Given the description of an element on the screen output the (x, y) to click on. 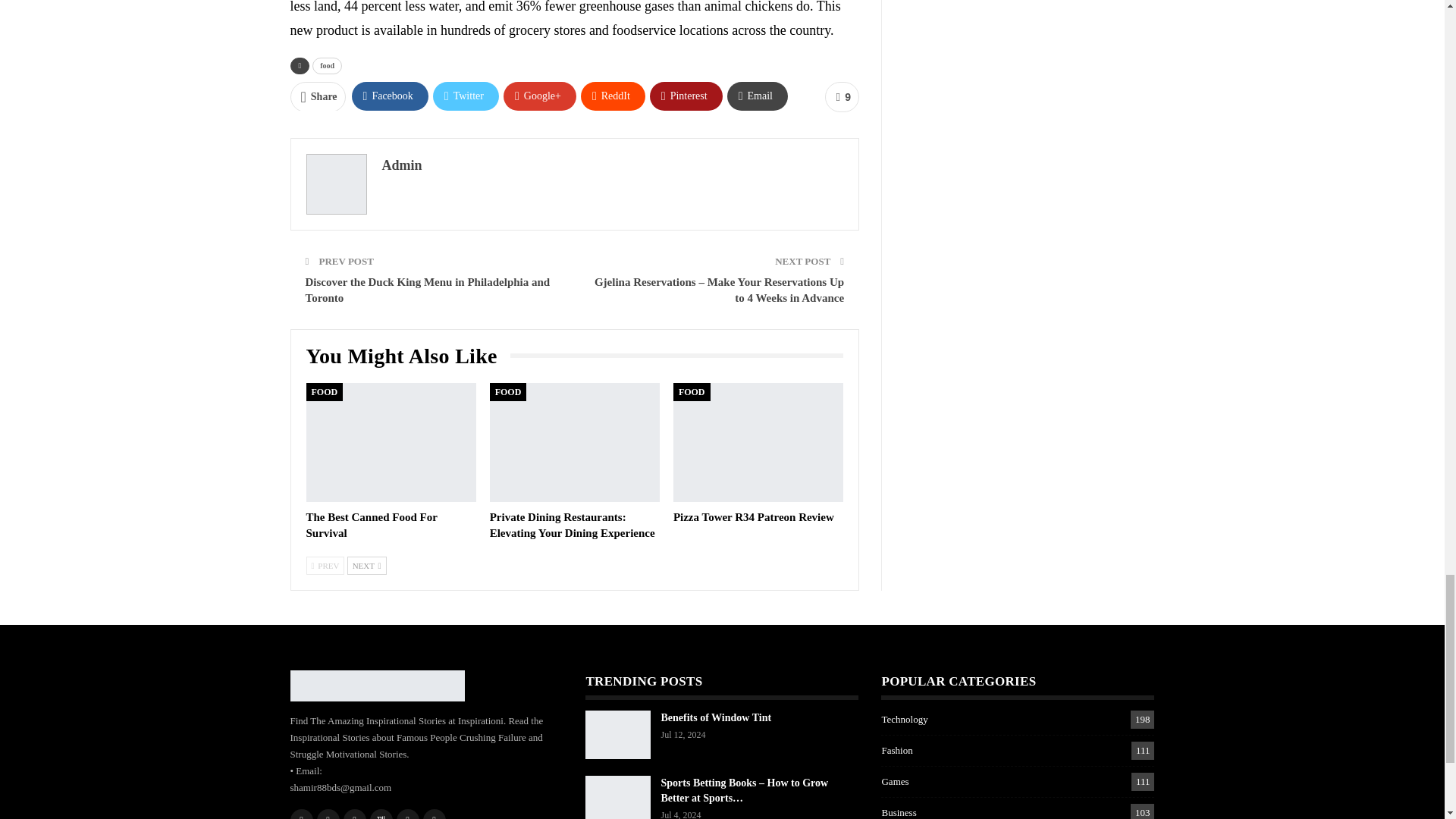
The Best Canned Food For Survival (390, 442)
The Best Canned Food For Survival (371, 524)
Pizza Tower R34 Patreon Review (757, 442)
Private Dining Restaurants: Elevating Your Dining Experience (572, 524)
Next (367, 565)
Previous (325, 565)
Private Dining Restaurants: Elevating Your Dining Experience (574, 442)
Pizza Tower R34 Patreon Review (753, 517)
